Given the description of an element on the screen output the (x, y) to click on. 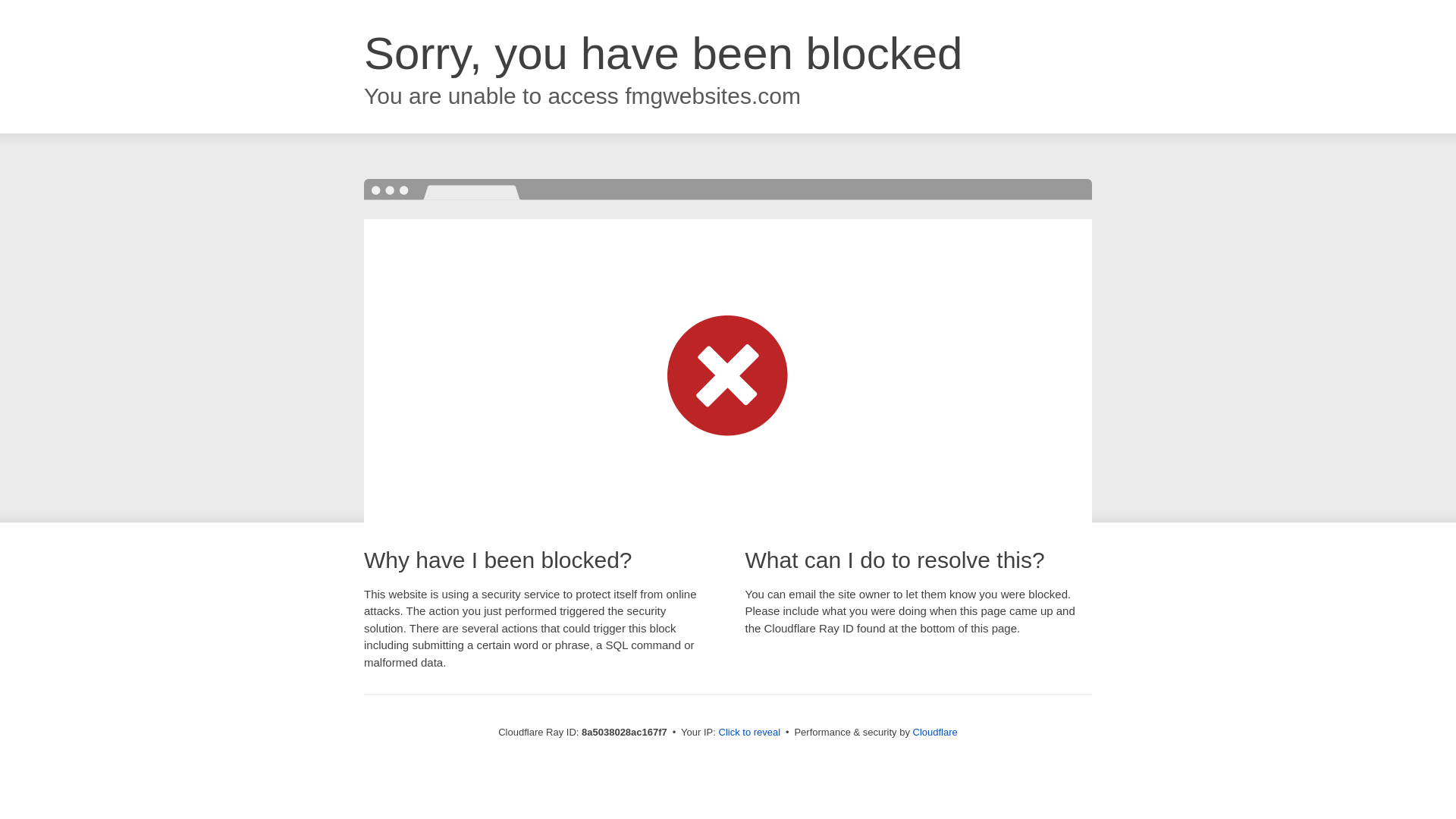
Click to reveal (749, 732)
Cloudflare (935, 731)
